Given the description of an element on the screen output the (x, y) to click on. 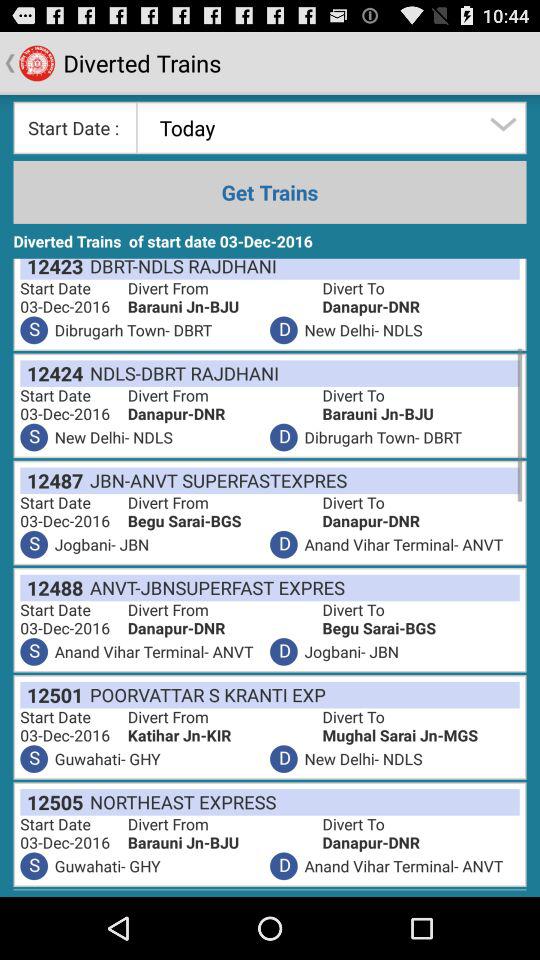
select the 12424 item (51, 373)
